Given the description of an element on the screen output the (x, y) to click on. 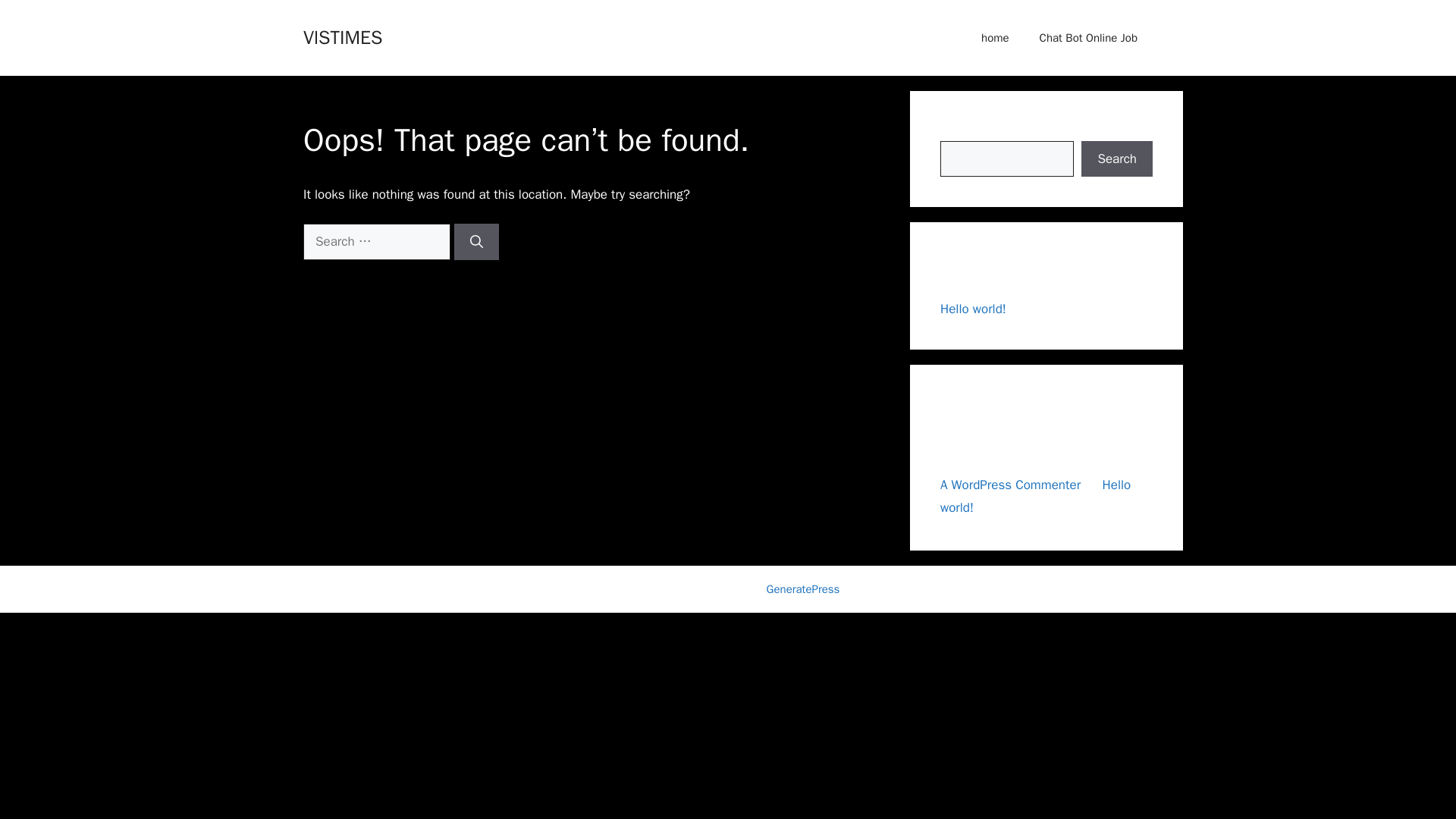
A WordPress Commenter (1010, 483)
Hello world! (1035, 495)
Chat Bot Online Job (1089, 37)
Search (1117, 158)
Hello world! (973, 308)
Search for: (375, 241)
home (995, 37)
GeneratePress (803, 589)
VlSTIMES (341, 37)
